Given the description of an element on the screen output the (x, y) to click on. 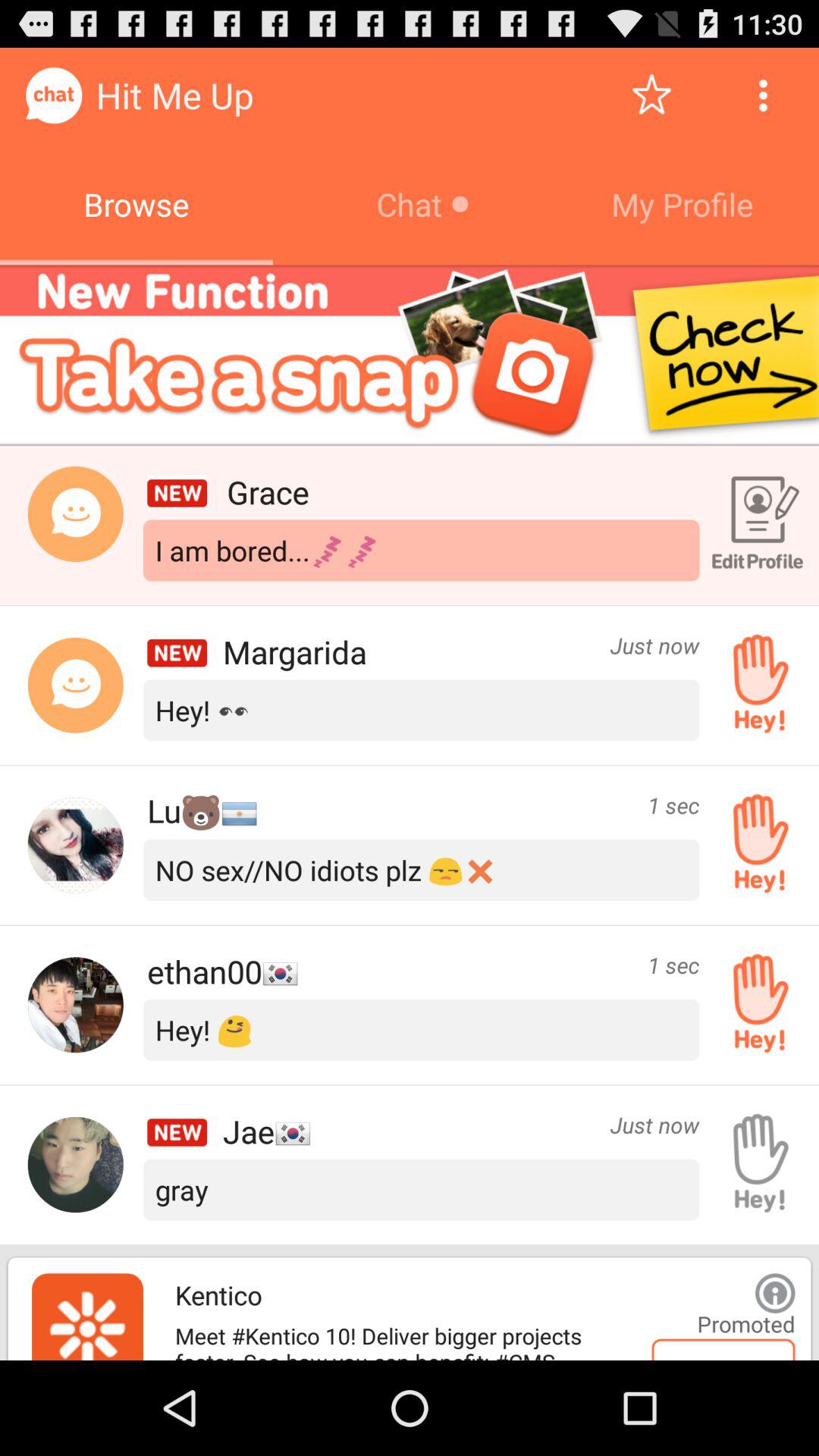
edit profile (755, 525)
